Given the description of an element on the screen output the (x, y) to click on. 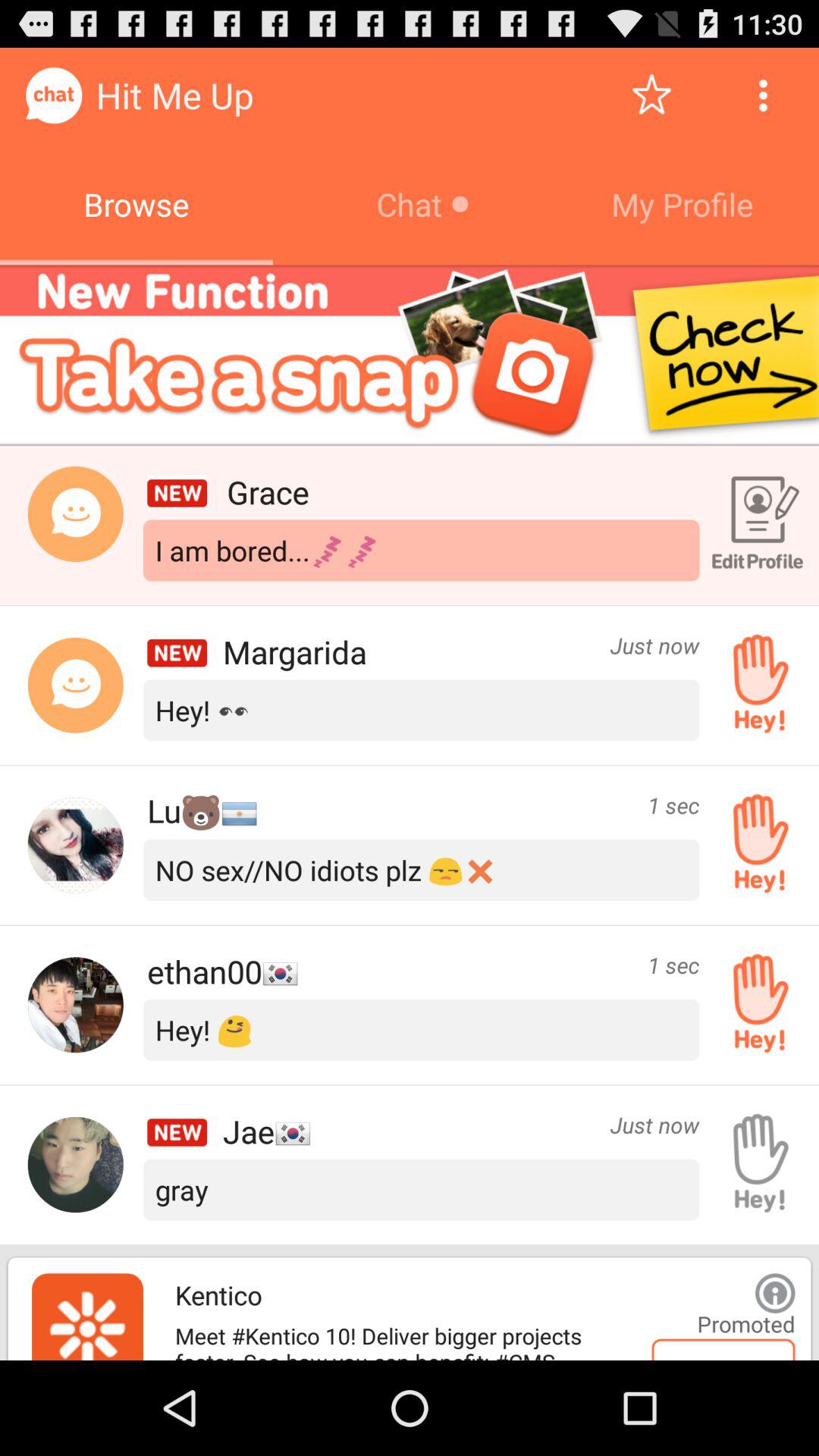
edit profile (755, 525)
